Given the description of an element on the screen output the (x, y) to click on. 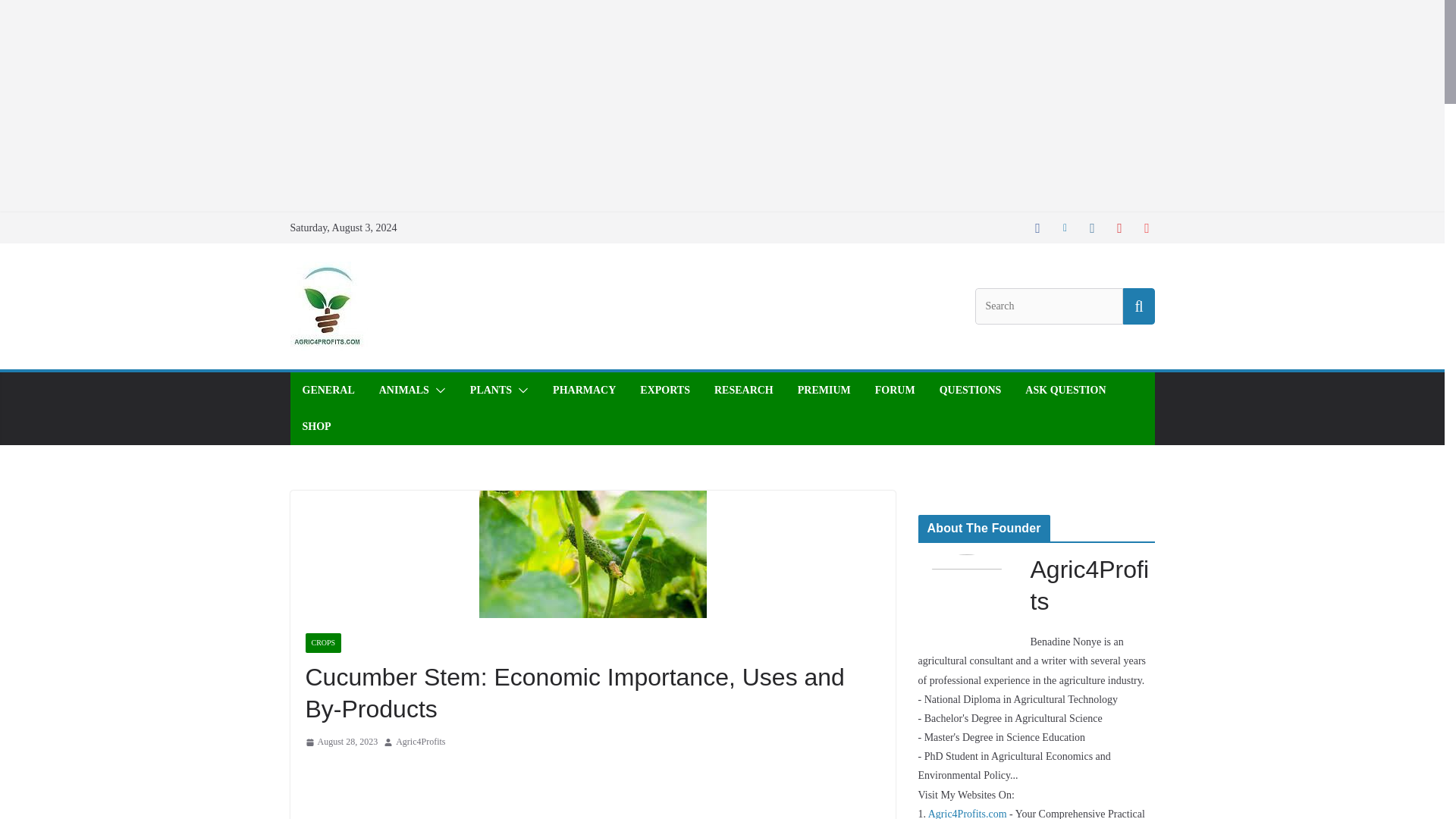
Agric4Profits (420, 742)
CROPS (322, 642)
Agric4Profits (420, 742)
August 28, 2023 (340, 742)
ANIMALS (403, 390)
8:11 pm (340, 742)
SHOP (315, 426)
GENERAL (327, 390)
PHARMACY (584, 390)
EXPORTS (665, 390)
PREMIUM (823, 390)
FORUM (895, 390)
Cucumber Stem: Economic Importance, Uses and By-Products (592, 554)
ASK QUESTION (1065, 390)
QUESTIONS (970, 390)
